Given the description of an element on the screen output the (x, y) to click on. 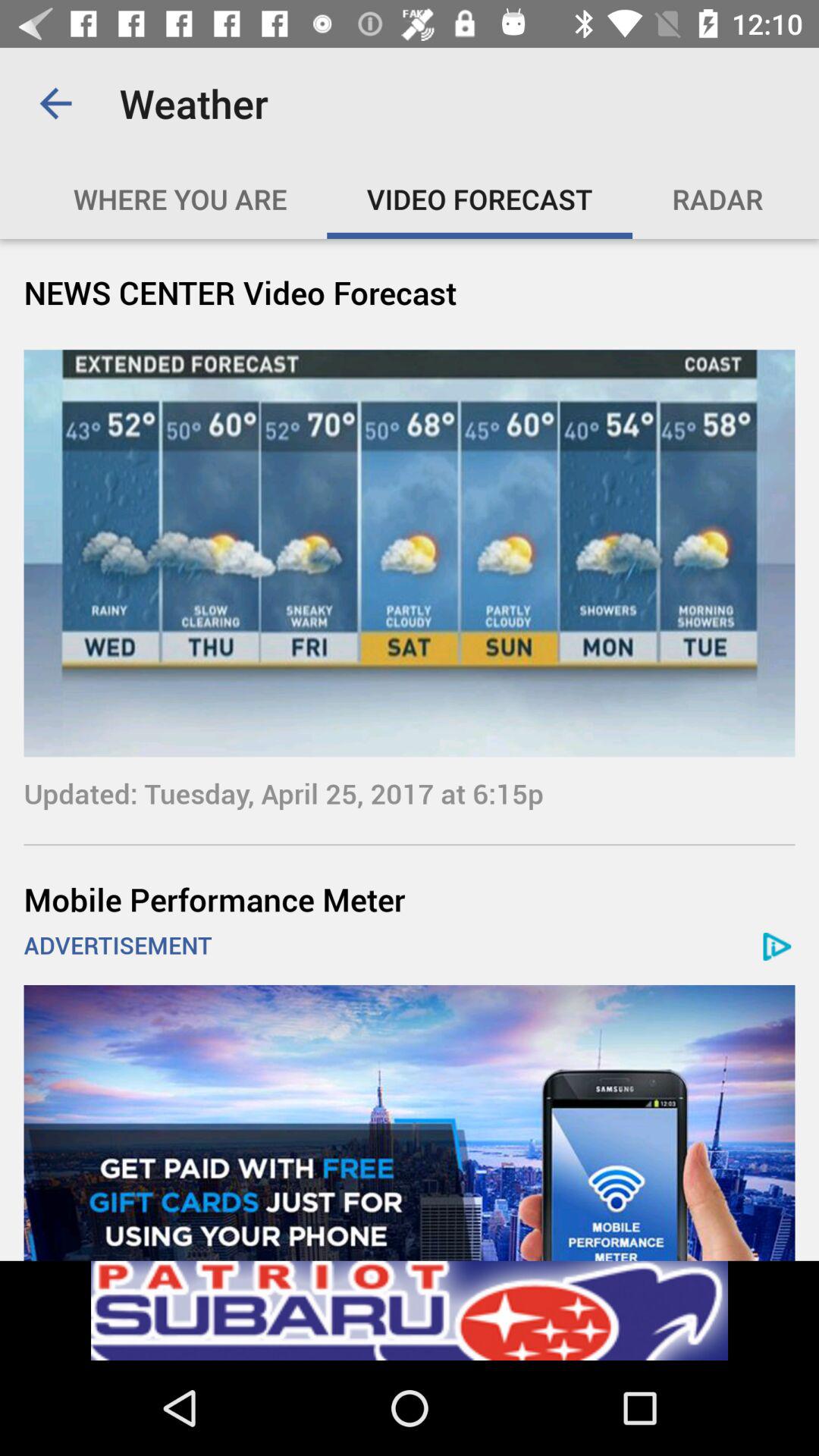
view advertisement (409, 1310)
